Given the description of an element on the screen output the (x, y) to click on. 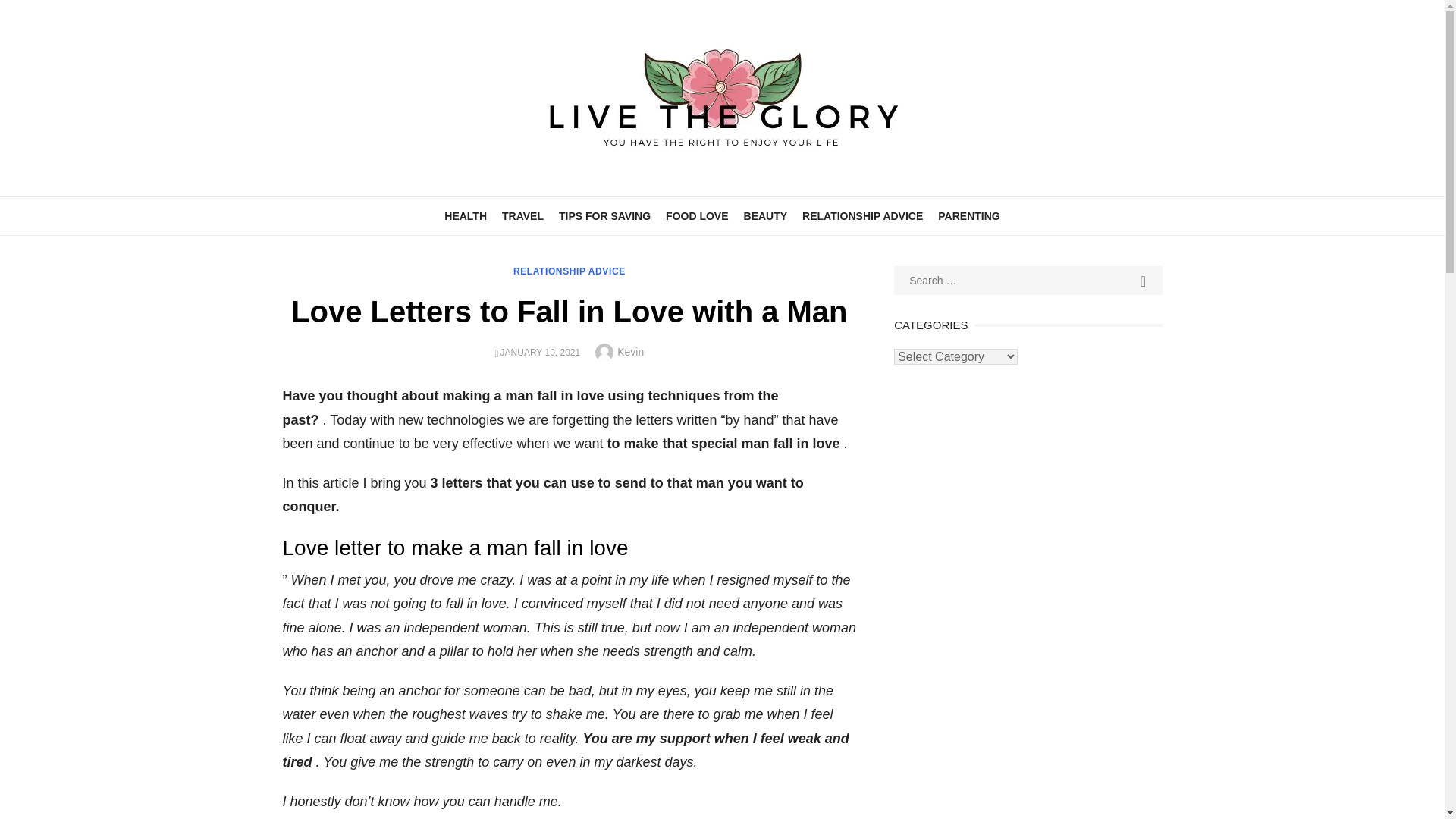
RELATIONSHIP ADVICE (569, 271)
BEAUTY (765, 215)
RELATIONSHIP ADVICE (862, 215)
JANUARY 10, 2021 (540, 352)
FOOD LOVE (696, 215)
HEALTH (465, 215)
PARENTING (968, 215)
Kevin (630, 351)
TIPS FOR SAVING (604, 215)
TRAVEL (523, 215)
